Given the description of an element on the screen output the (x, y) to click on. 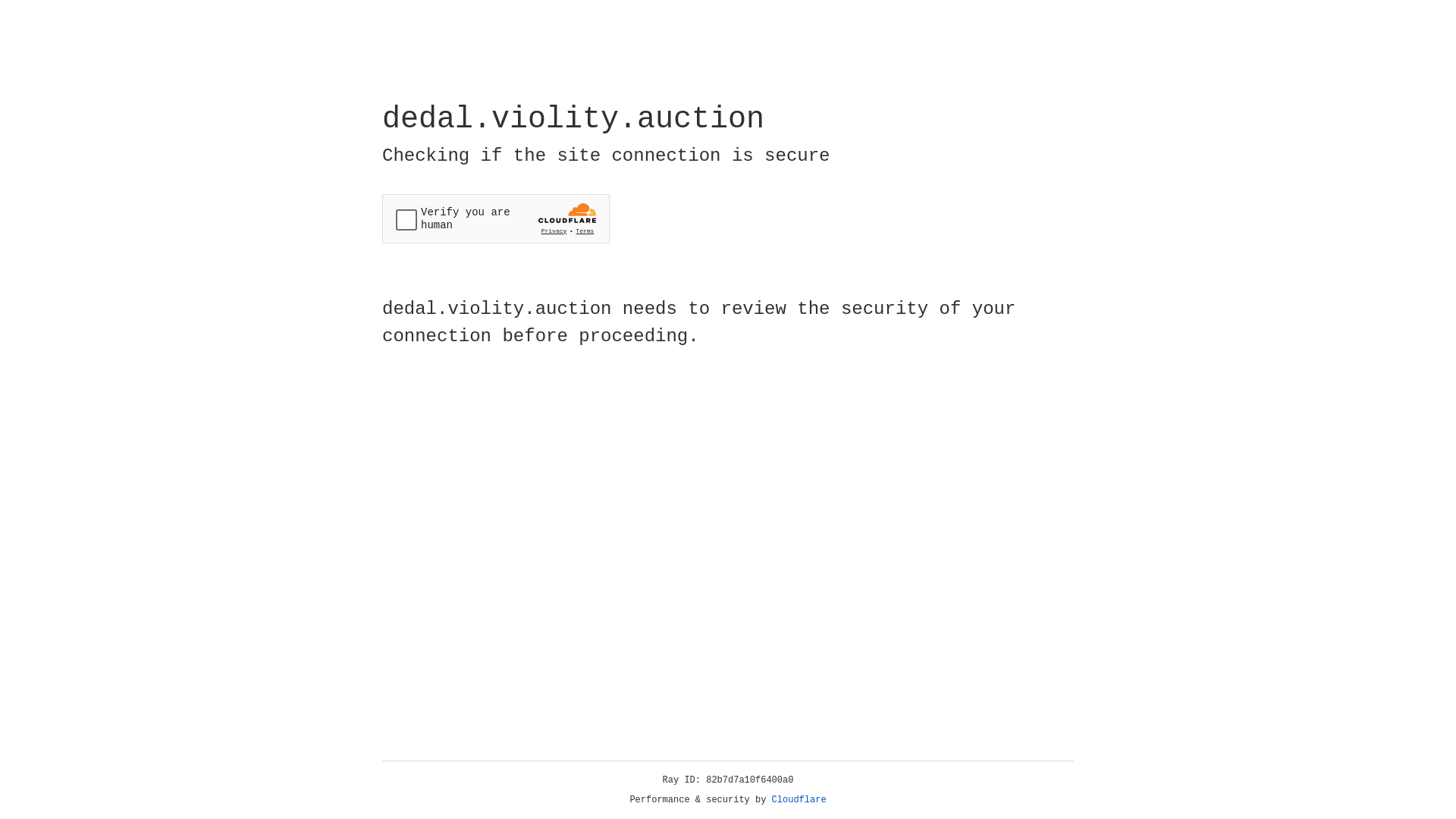
Widget containing a Cloudflare security challenge Element type: hover (495, 218)
Cloudflare Element type: text (798, 799)
